Given the description of an element on the screen output the (x, y) to click on. 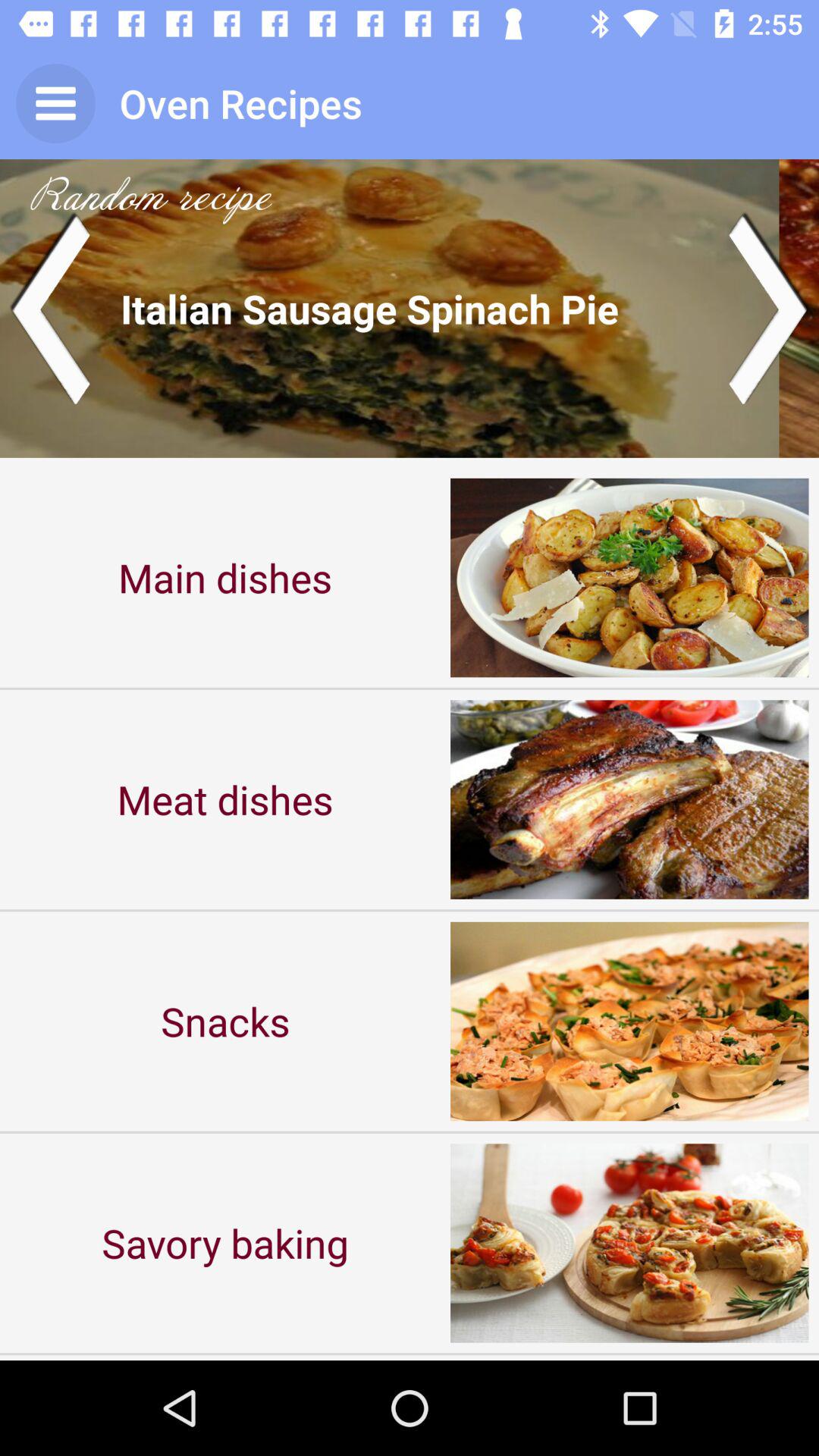
view photos (409, 308)
